Given the description of an element on the screen output the (x, y) to click on. 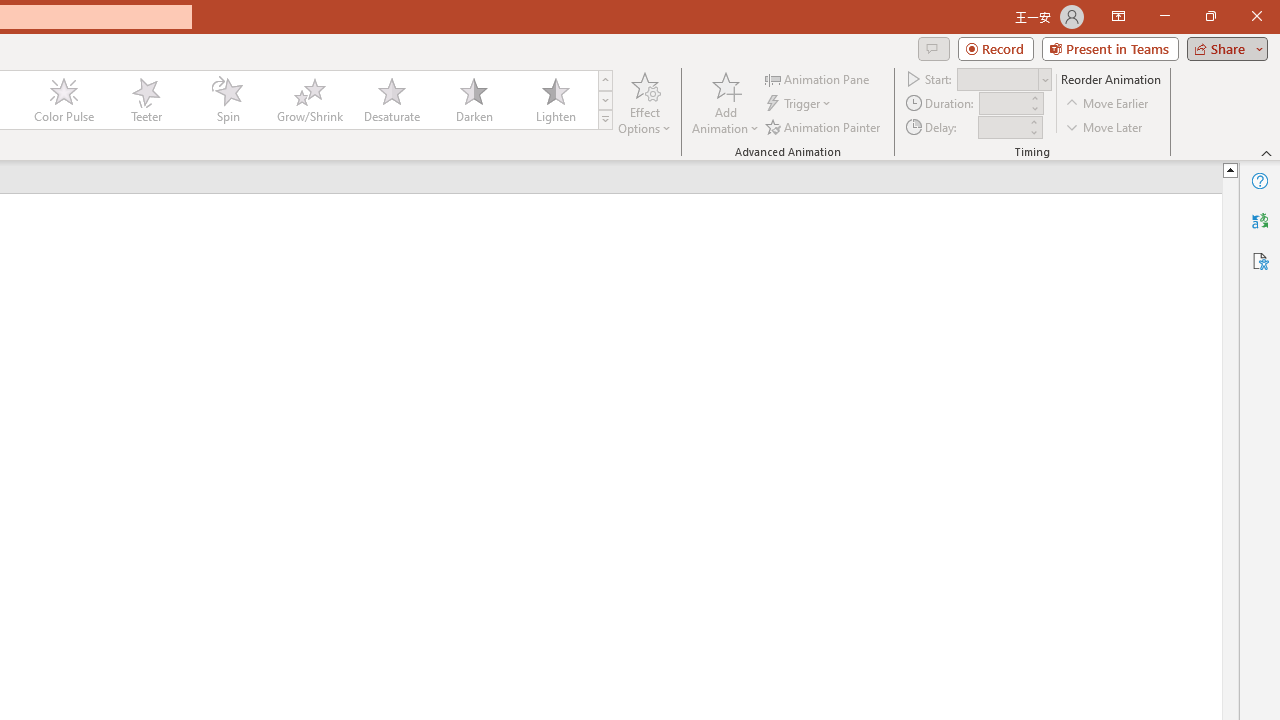
Add Animation (725, 102)
More (1033, 121)
Animation Delay (1002, 127)
Color Pulse (63, 100)
